Given the description of an element on the screen output the (x, y) to click on. 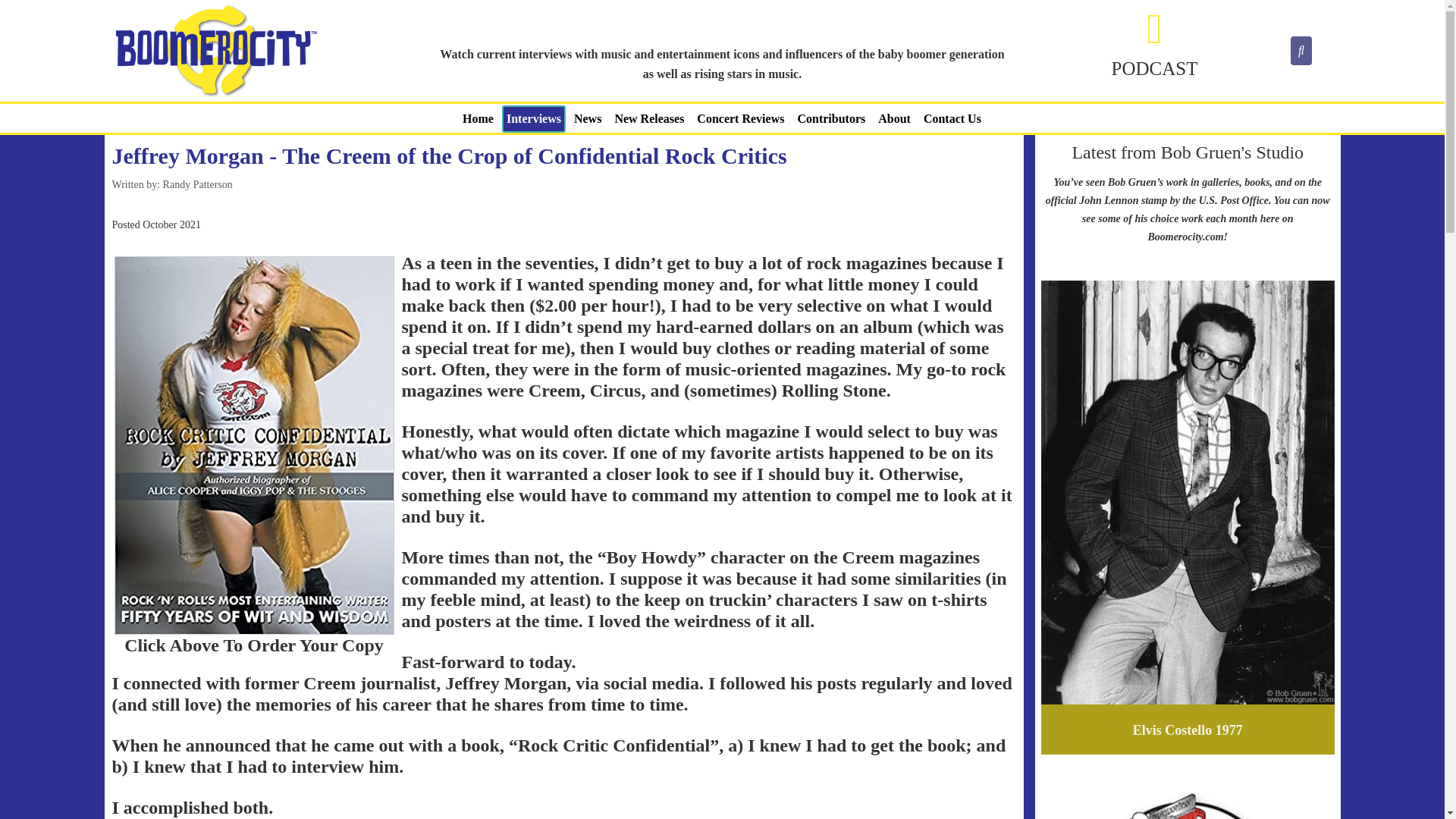
Home (477, 118)
Contact Us (951, 118)
Concert Reviews (741, 118)
Elvis Costello 1977 (1187, 729)
News (587, 118)
Interviews (534, 118)
New Releases (649, 118)
About (894, 118)
